Given the description of an element on the screen output the (x, y) to click on. 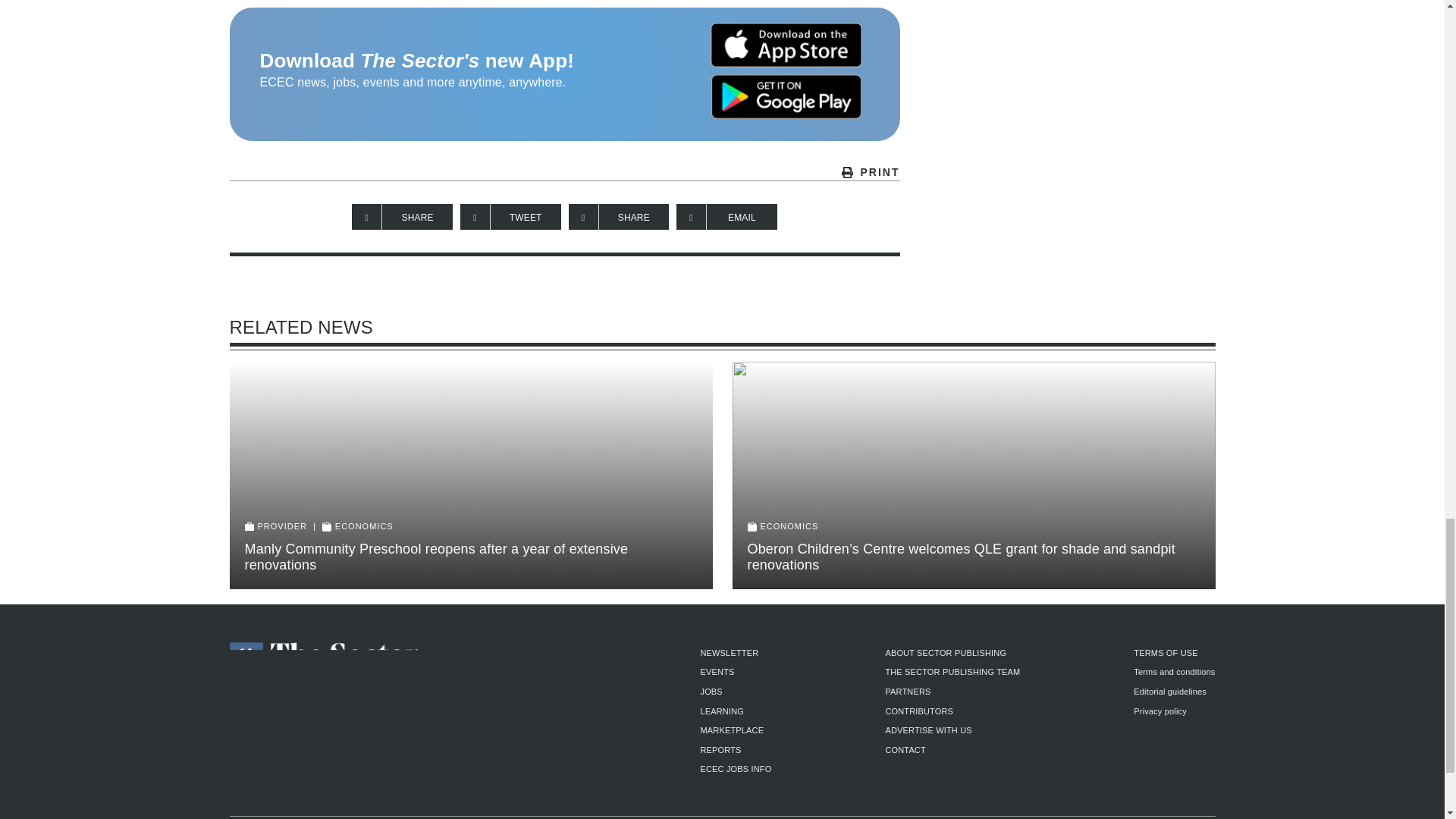
Tweet (510, 216)
Share on Email (727, 216)
Share on LinkedIn (619, 216)
Share on Facebook (402, 216)
